Given the description of an element on the screen output the (x, y) to click on. 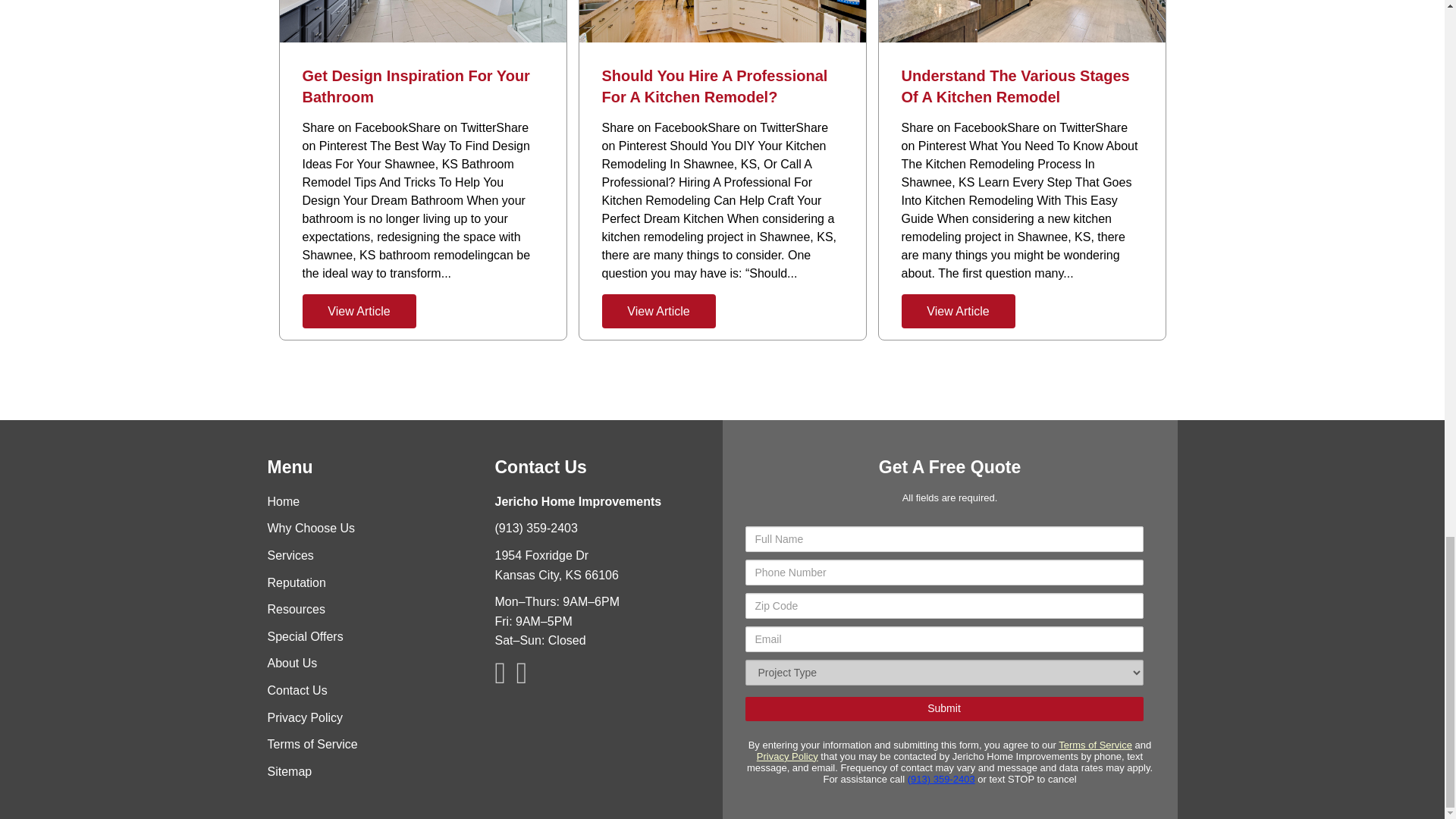
Submit (943, 708)
